Given the description of an element on the screen output the (x, y) to click on. 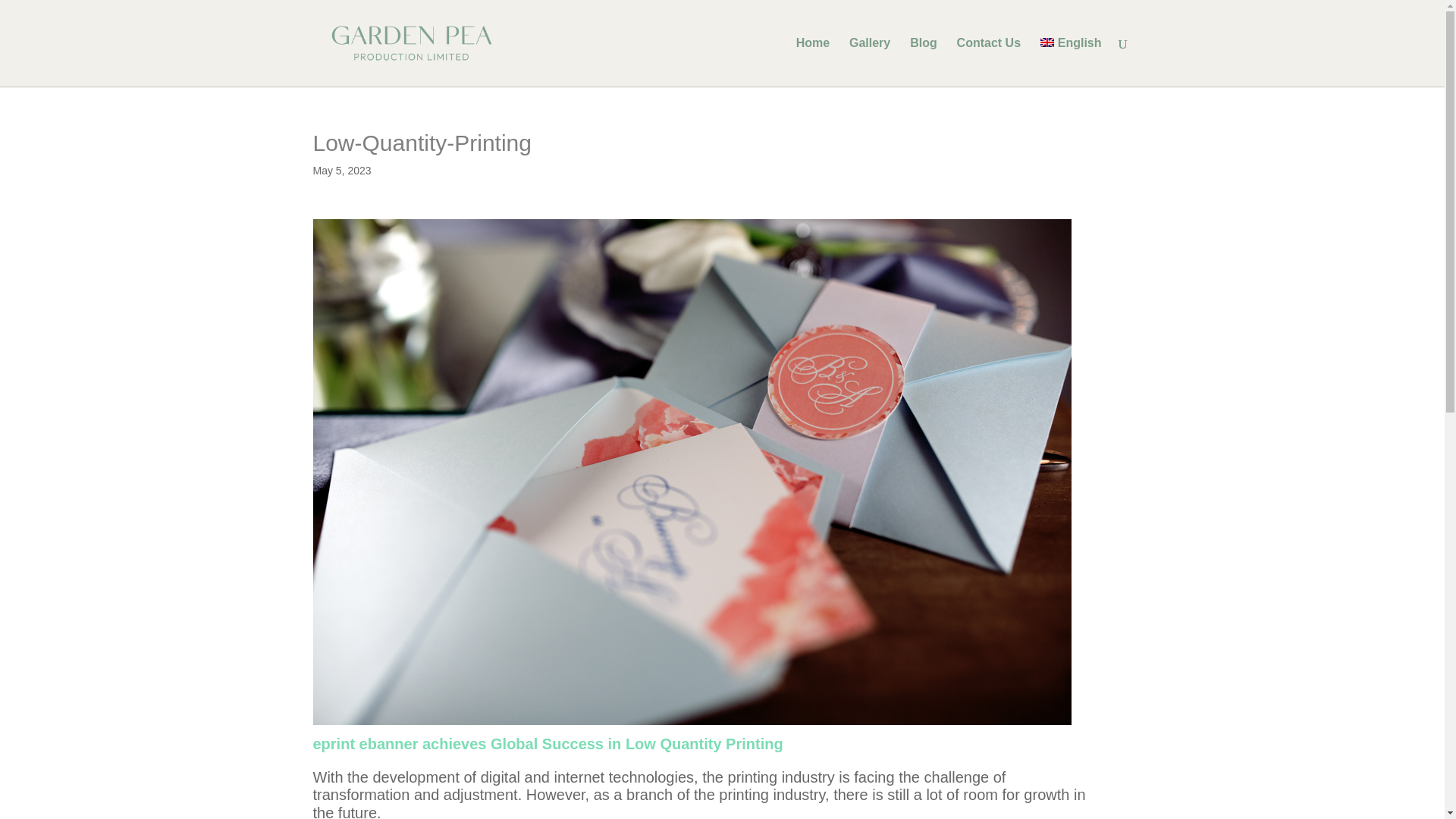
Contact Us (988, 61)
English (1071, 61)
English (1071, 61)
